Given the description of an element on the screen output the (x, y) to click on. 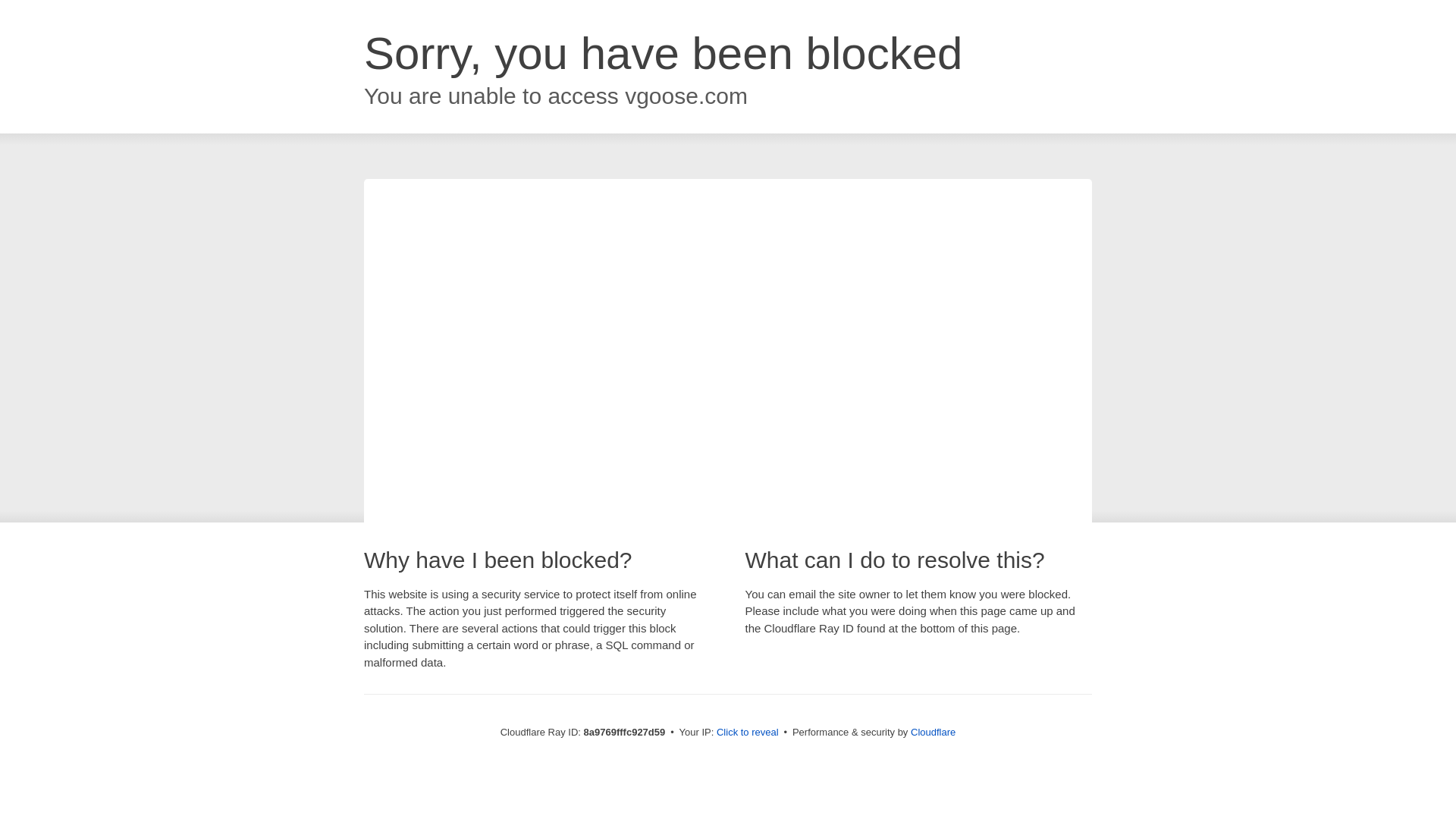
Click to reveal (747, 732)
Cloudflare (933, 731)
